Given the description of an element on the screen output the (x, y) to click on. 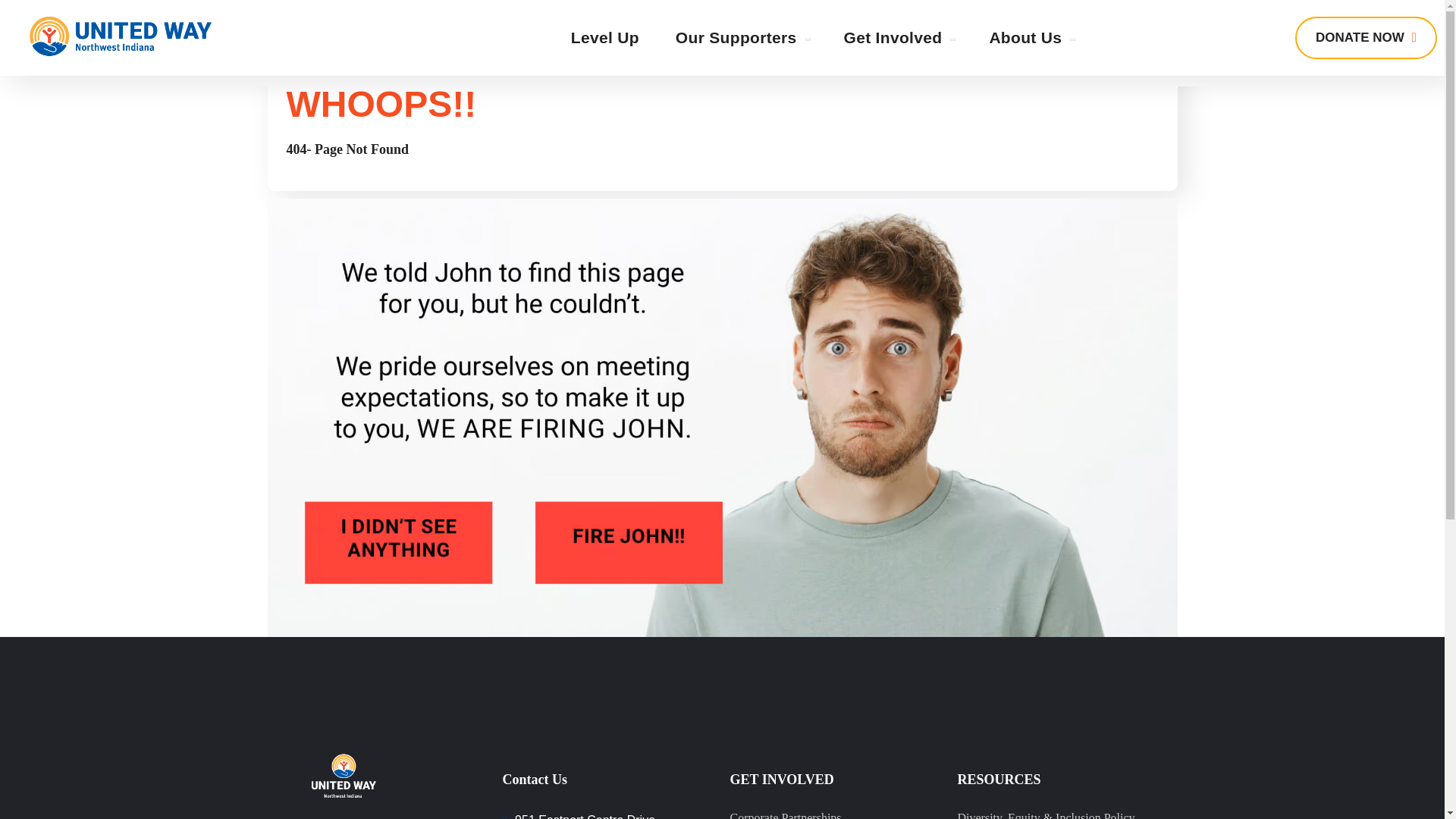
DONATE NOW (1366, 37)
Get Involved (898, 37)
About Us (1030, 37)
Our Supporters (741, 37)
Level Up (605, 37)
